Given the description of an element on the screen output the (x, y) to click on. 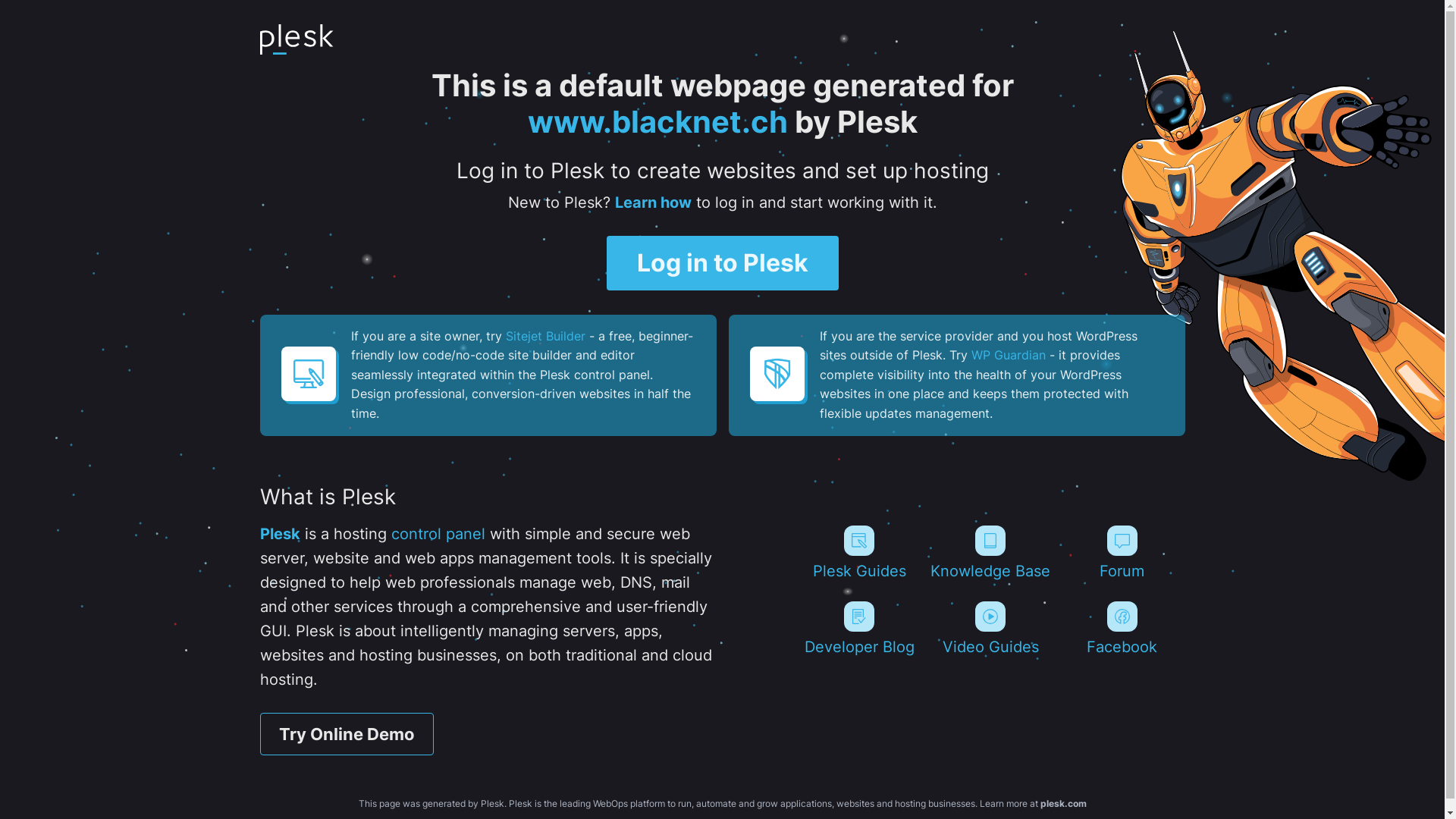
Learn how Element type: text (652, 202)
Developer Blog Element type: text (858, 628)
Knowledge Base Element type: text (990, 552)
Facebook Element type: text (1121, 628)
control panel Element type: text (438, 533)
Video Guides Element type: text (990, 628)
Plesk Element type: text (279, 533)
Plesk Guides Element type: text (858, 552)
Try Online Demo Element type: text (346, 733)
plesk.com Element type: text (1063, 803)
Forum Element type: text (1121, 552)
WP Guardian Element type: text (1007, 354)
Log in to Plesk Element type: text (722, 262)
Sitejet Builder Element type: text (544, 335)
www.blacknet.ch Element type: text (657, 121)
